Given the description of an element on the screen output the (x, y) to click on. 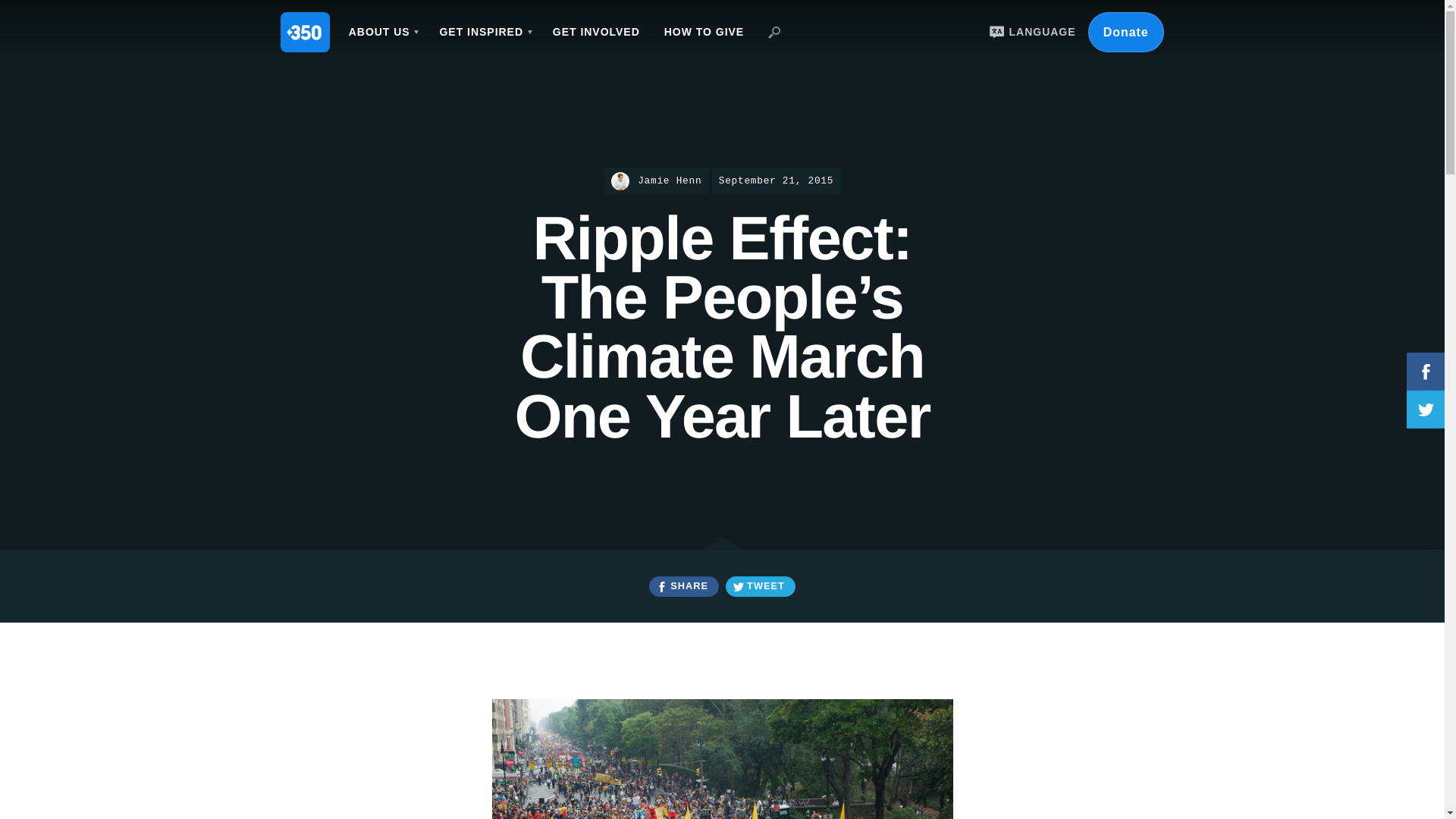
TWEET (759, 586)
ABOUT US (382, 32)
GET INVOLVED (596, 32)
SHARE (683, 586)
350 (305, 32)
HOW TO GIVE (703, 32)
GET INSPIRED (483, 32)
LANGUAGE (1029, 32)
Donate (1125, 32)
